Given the description of an element on the screen output the (x, y) to click on. 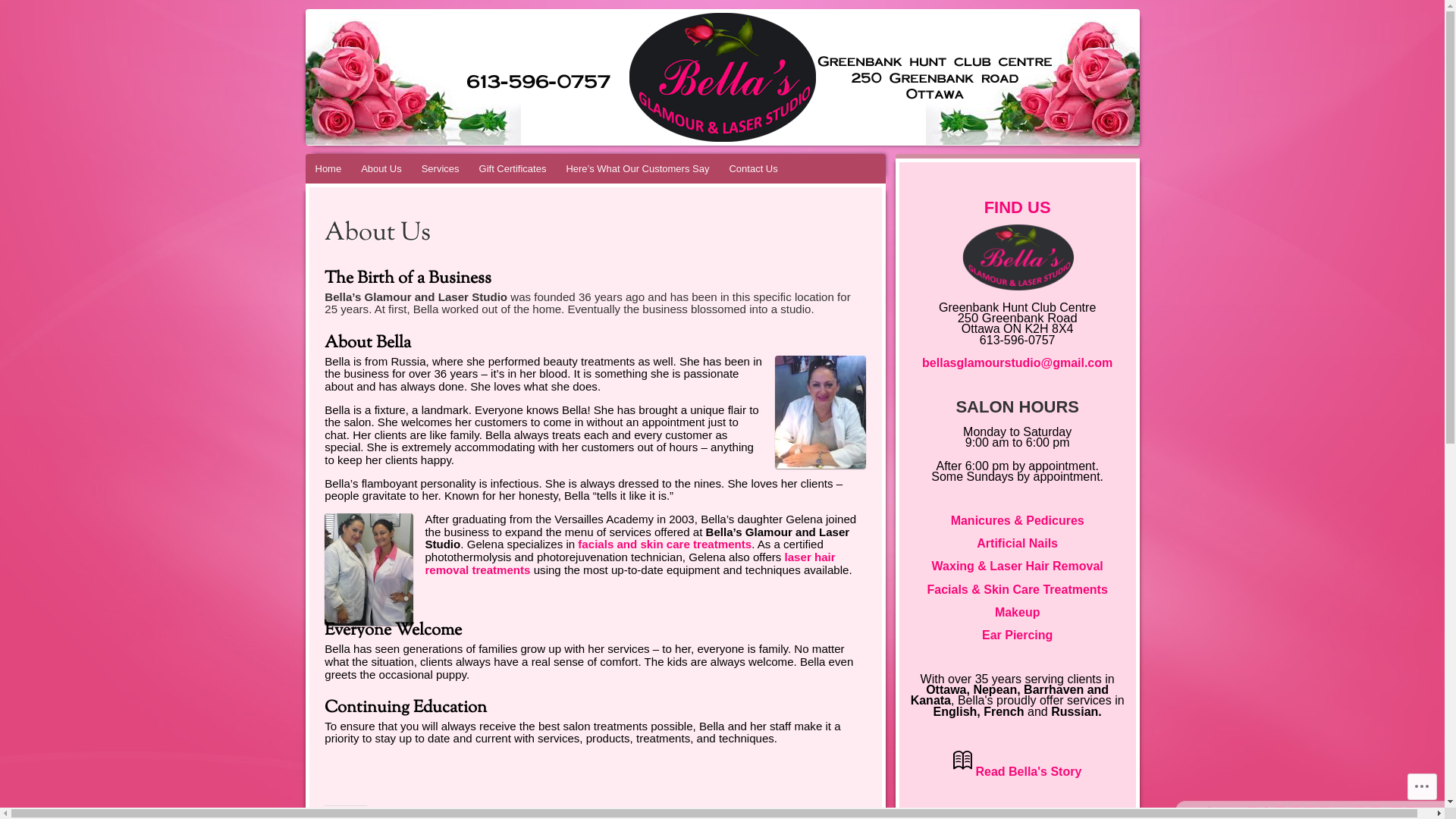
Read Bella's Story Element type: text (1028, 770)
bellasglamourstudio@gmail.com Element type: text (1017, 362)
About Us Element type: text (381, 168)
FIND US Element type: text (1017, 208)
Manicures & Pedicures Element type: text (1017, 520)
Home Element type: text (327, 168)
Waxing & Laser Hair Removal Element type: text (1017, 565)
Makeup Element type: text (1017, 611)
Services Element type: text (440, 168)
Contact Us Element type: text (752, 168)
Facials & Skin Care Treatments Element type: text (1016, 589)
Gift Certificates Element type: text (512, 168)
laser hair removal treatments Element type: text (629, 563)
Ear Piercing Element type: text (1017, 634)
Artificial Nails Element type: text (1016, 542)
facials and skin care treatments Element type: text (664, 543)
